Given the description of an element on the screen output the (x, y) to click on. 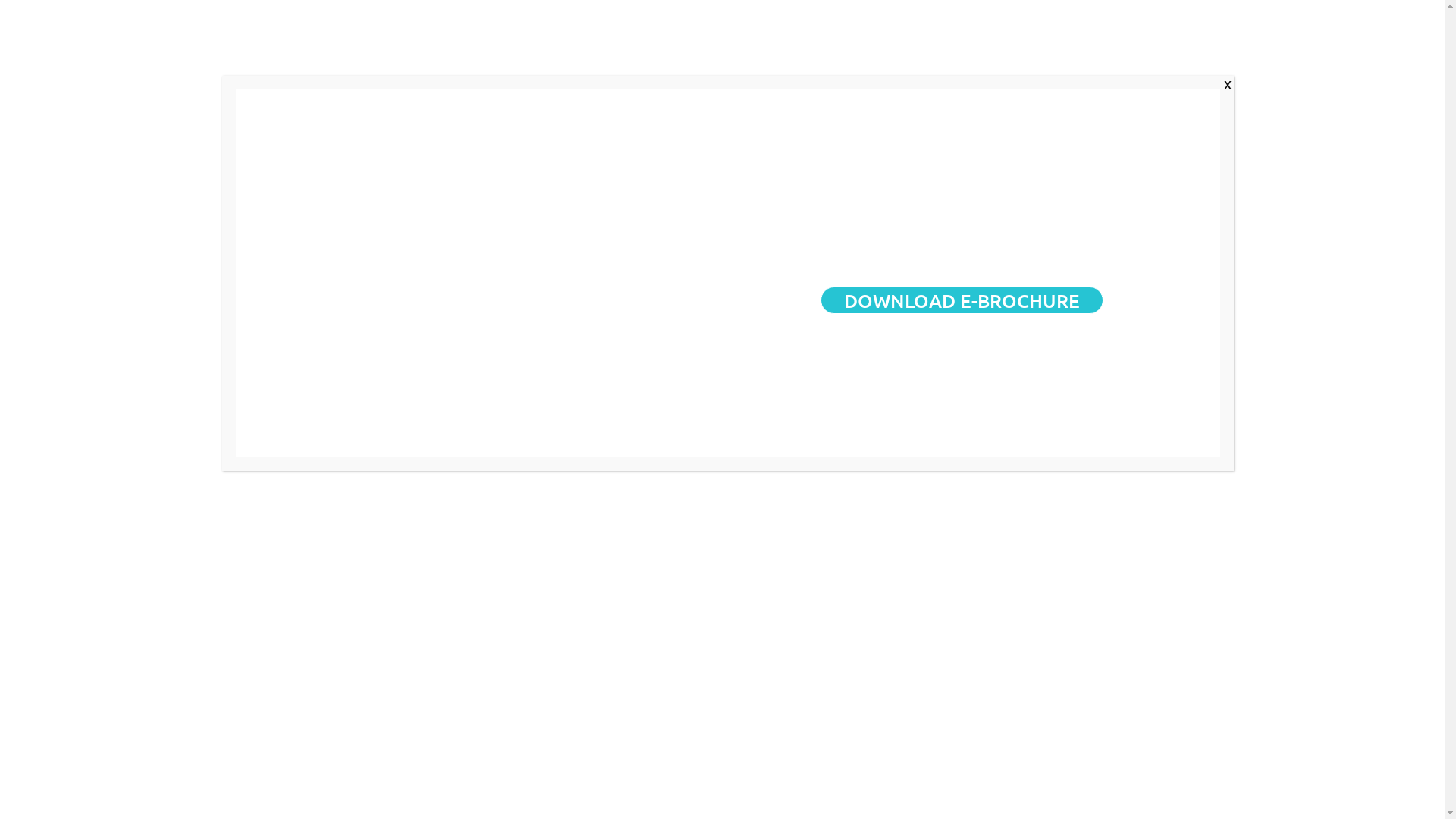
News & CSR Element type: text (964, 42)
Career Element type: text (1048, 42)
Projects Element type: text (870, 42)
x Element type: text (1227, 83)
Home Element type: text (702, 42)
Contact Element type: text (1118, 42)
Corporate Element type: text (781, 42)
